Given the description of an element on the screen output the (x, y) to click on. 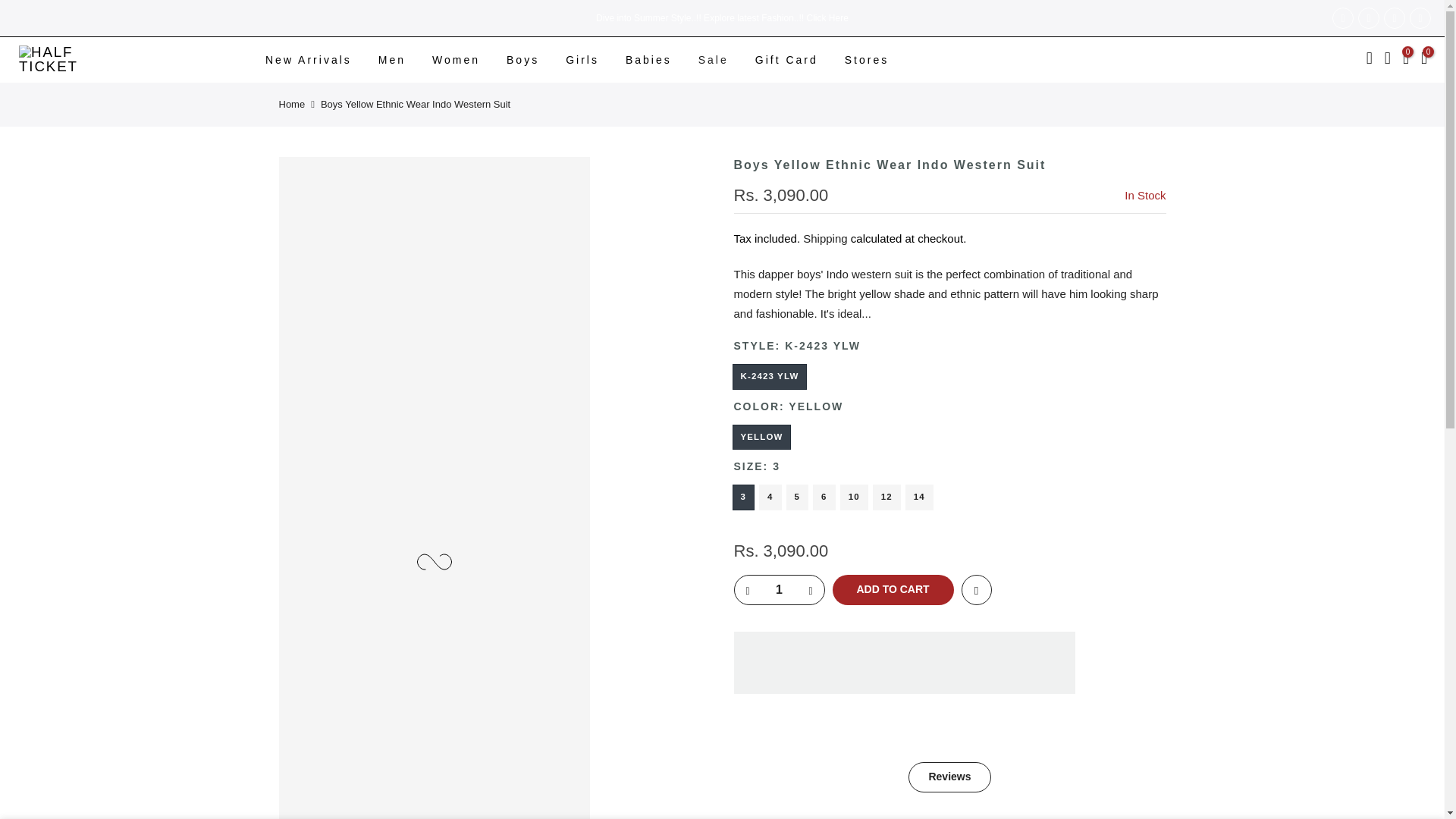
New Arrivals (308, 59)
Click Here (827, 17)
1 (778, 589)
Summer'24 (827, 17)
Men (392, 59)
